Given the description of an element on the screen output the (x, y) to click on. 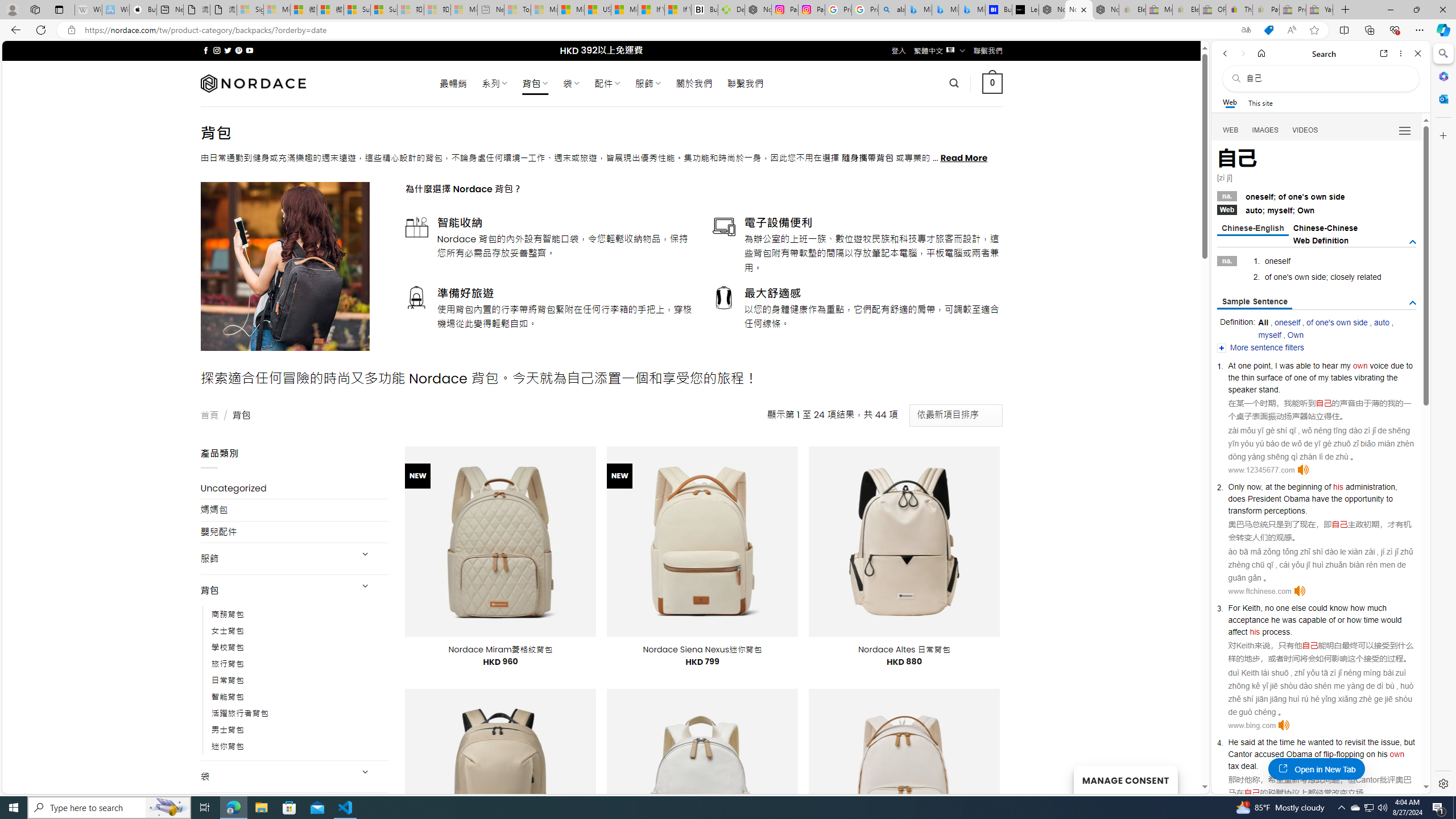
one (1299, 377)
Press Room - eBay Inc. - Sleeping (1292, 9)
Follow on Pinterest (237, 50)
tax (1233, 765)
due (1396, 365)
